Given the description of an element on the screen output the (x, y) to click on. 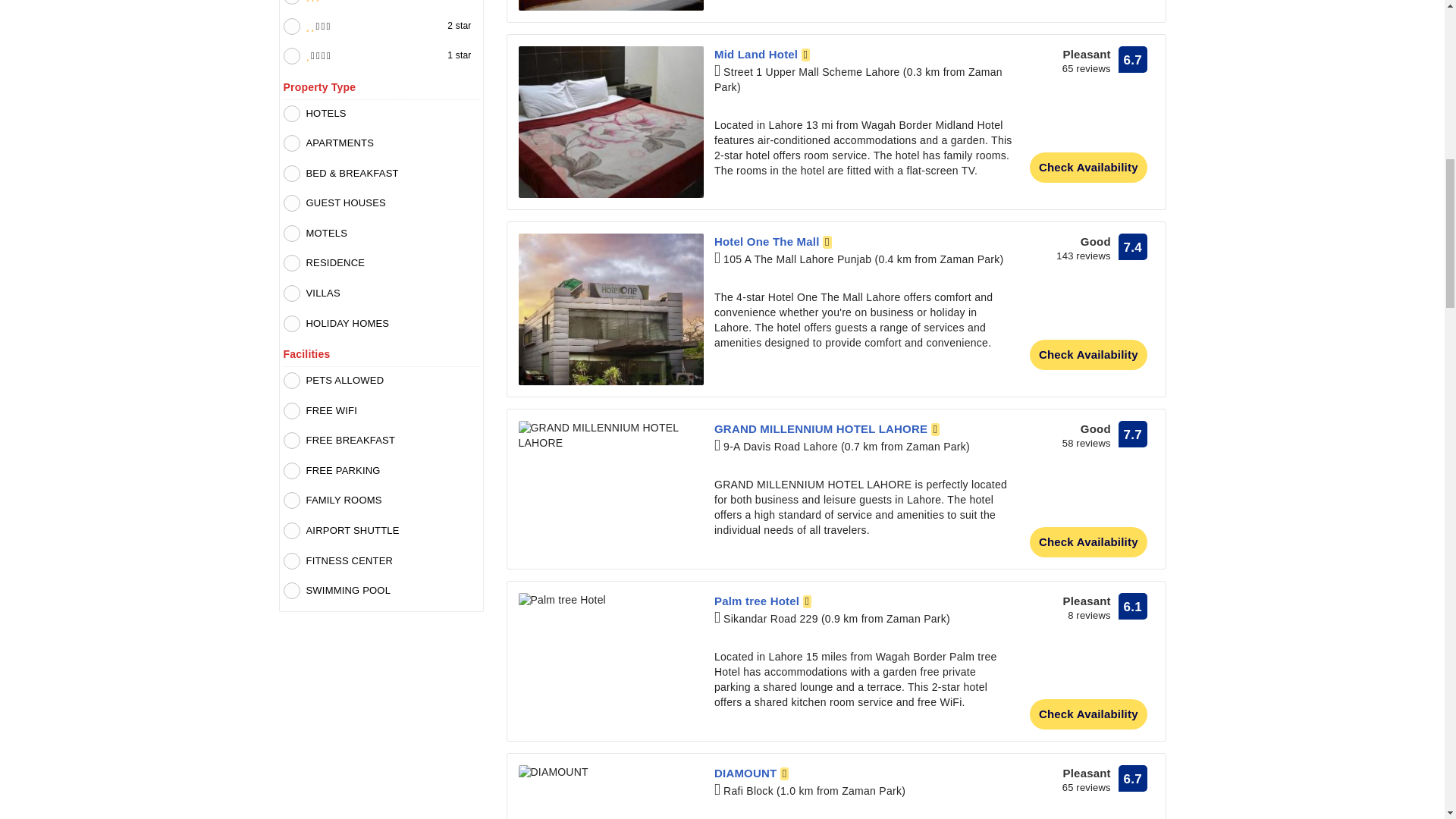
Hotel One The Mall (772, 241)
Check availability (1088, 167)
Mall View Hotel (610, 5)
Mid Land Hotel (761, 53)
Mid Land Hotel (610, 121)
Hotel One The Mall (610, 308)
